Given the description of an element on the screen output the (x, y) to click on. 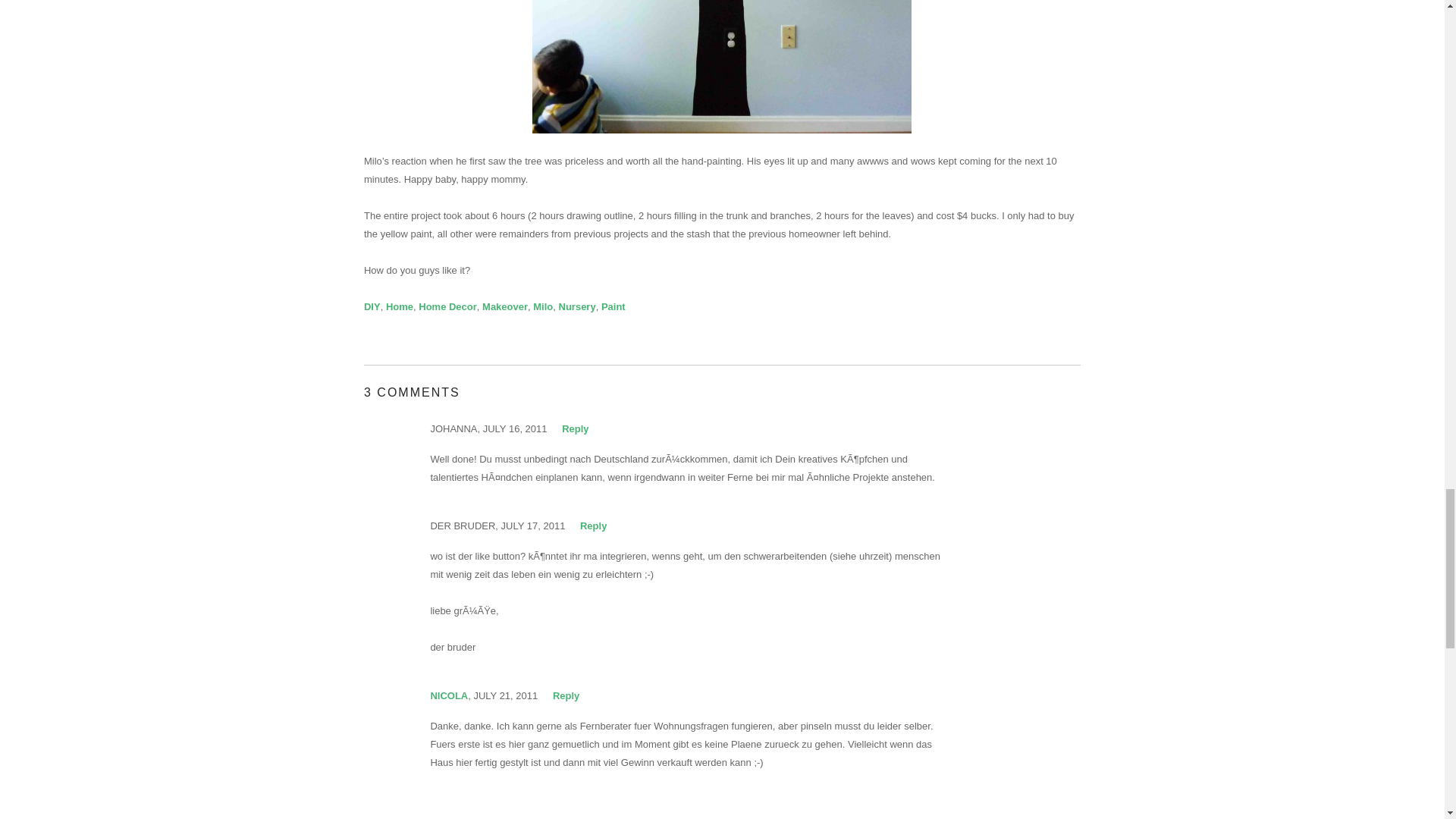
Home Decor (448, 306)
Nursery (577, 306)
DIY (372, 306)
Reply (593, 525)
NICOLA (448, 695)
Milo (542, 306)
Paint (613, 306)
Reply (566, 695)
Home (399, 306)
Makeover (504, 306)
Reply (575, 428)
